Given the description of an element on the screen output the (x, y) to click on. 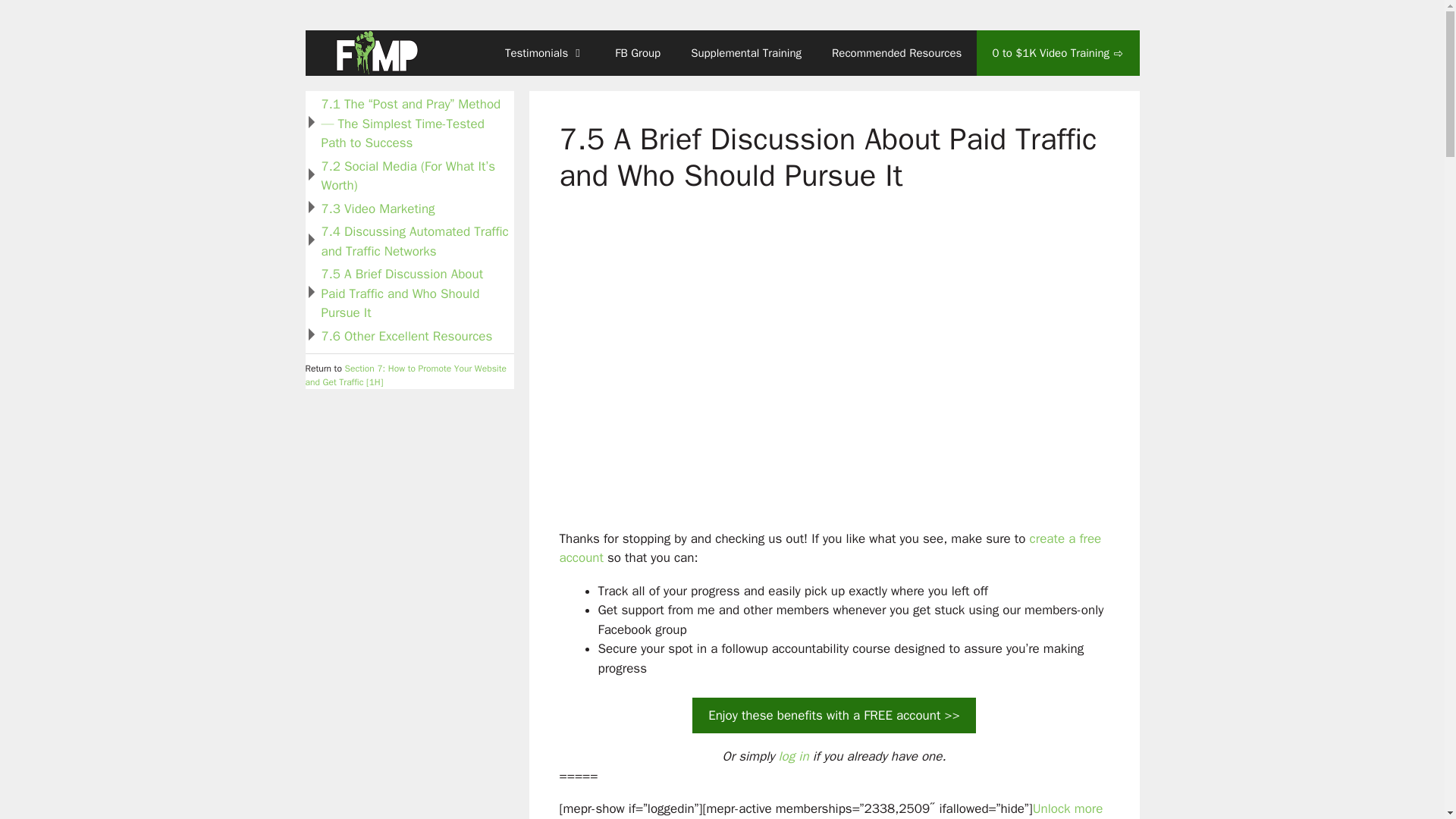
7.3 Video Marketing (378, 207)
7.6 Other Excellent Resources (407, 335)
Testimonials (544, 53)
create a free account (830, 548)
Unlock more training for growing your online income (831, 809)
7.4 Discussing Automated Traffic and Traffic Networks (414, 241)
FB Group (637, 53)
Supplemental Training (745, 53)
Recommended Resources (896, 53)
log in (792, 756)
